Given the description of an element on the screen output the (x, y) to click on. 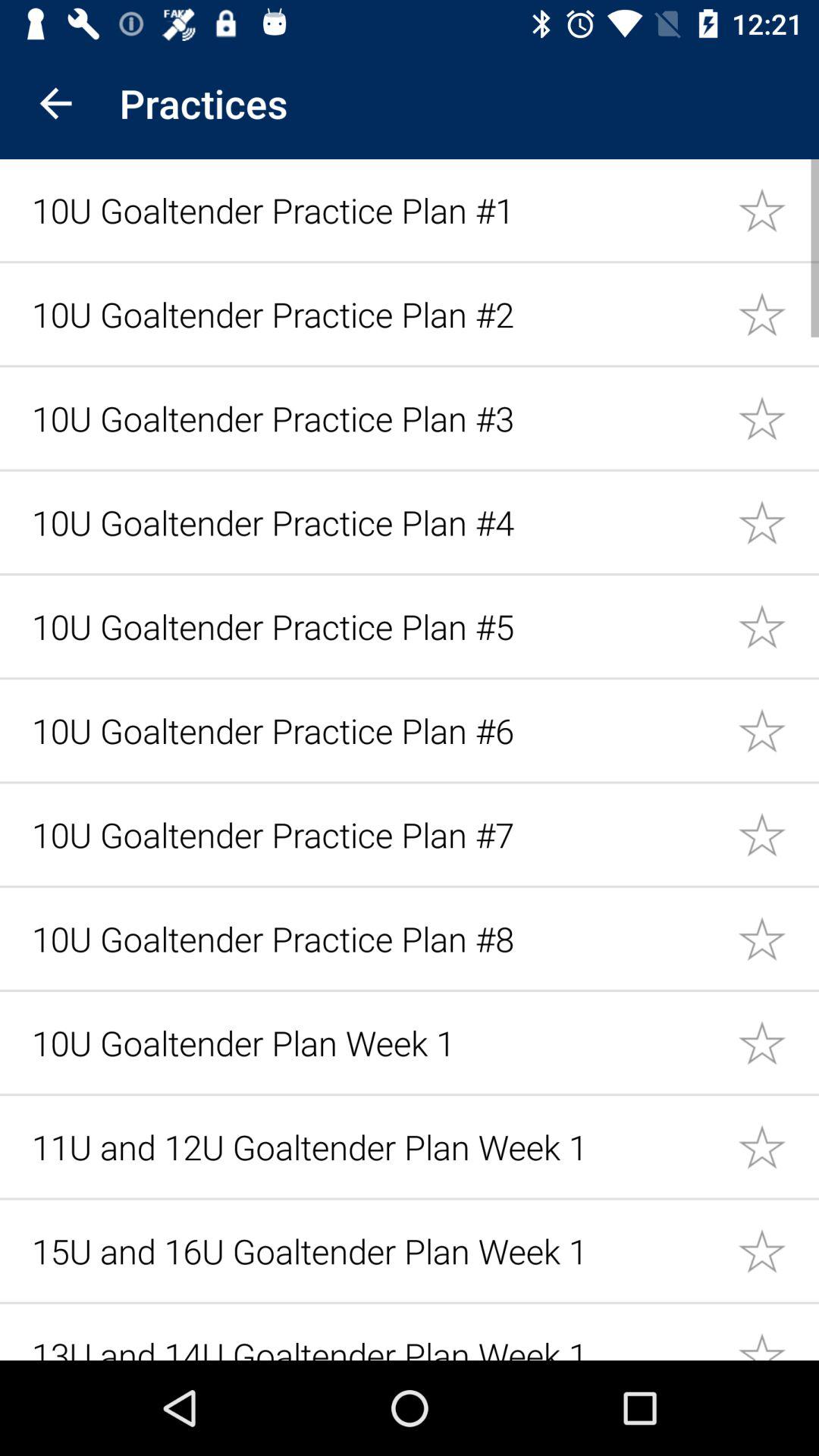
mark item as favorite (778, 209)
